Given the description of an element on the screen output the (x, y) to click on. 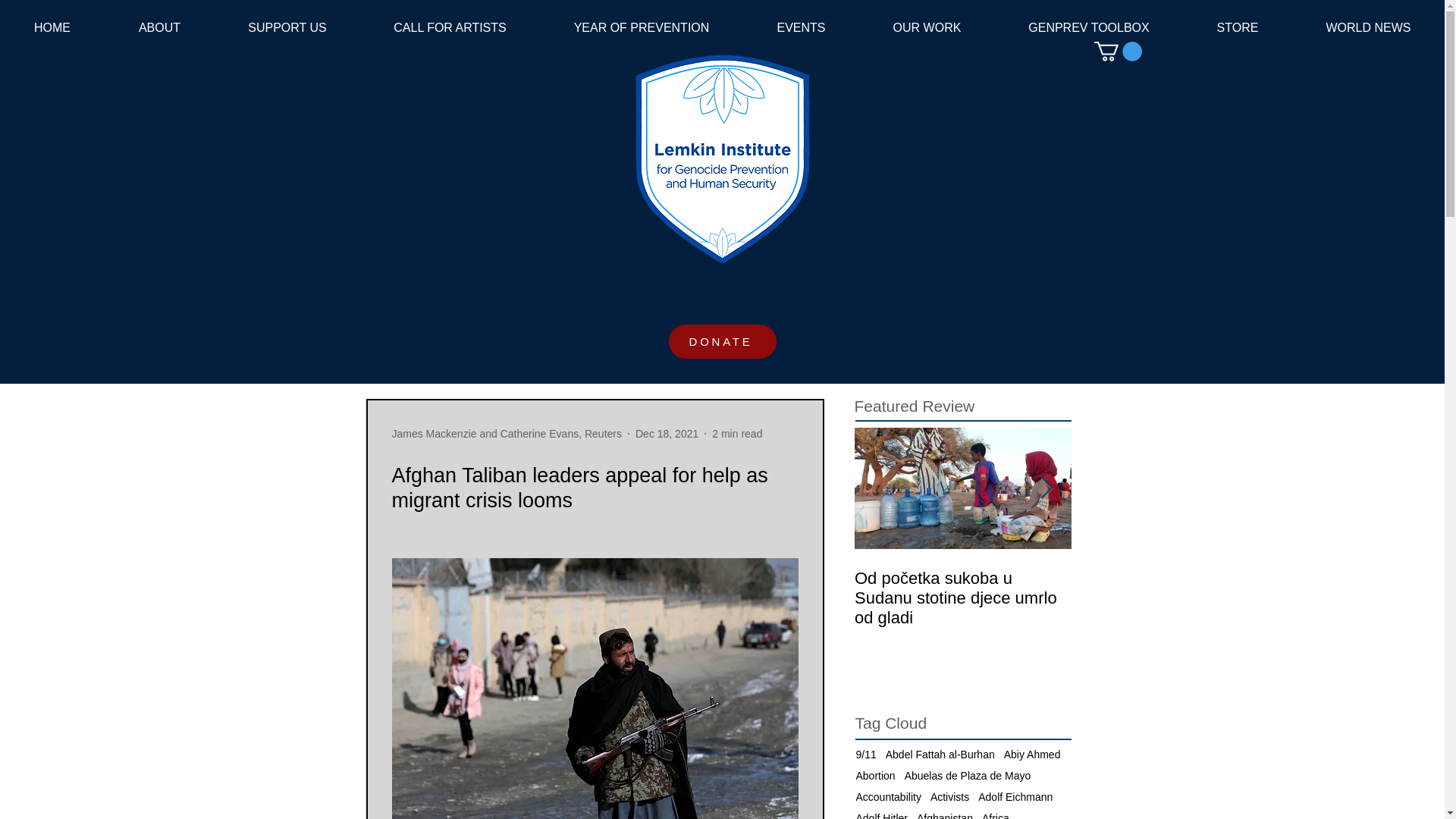
2 min read (736, 433)
STORE (1237, 27)
Dec 18, 2021 (666, 433)
HOME (52, 27)
EVENTS (800, 27)
James Mackenzie and Catherine Evans, Reuters (506, 433)
YEAR OF PREVENTION (641, 27)
New logo - Gotham Font bolded.png (721, 157)
CALL FOR ARTISTS (449, 27)
DONATE (722, 341)
